Given the description of an element on the screen output the (x, y) to click on. 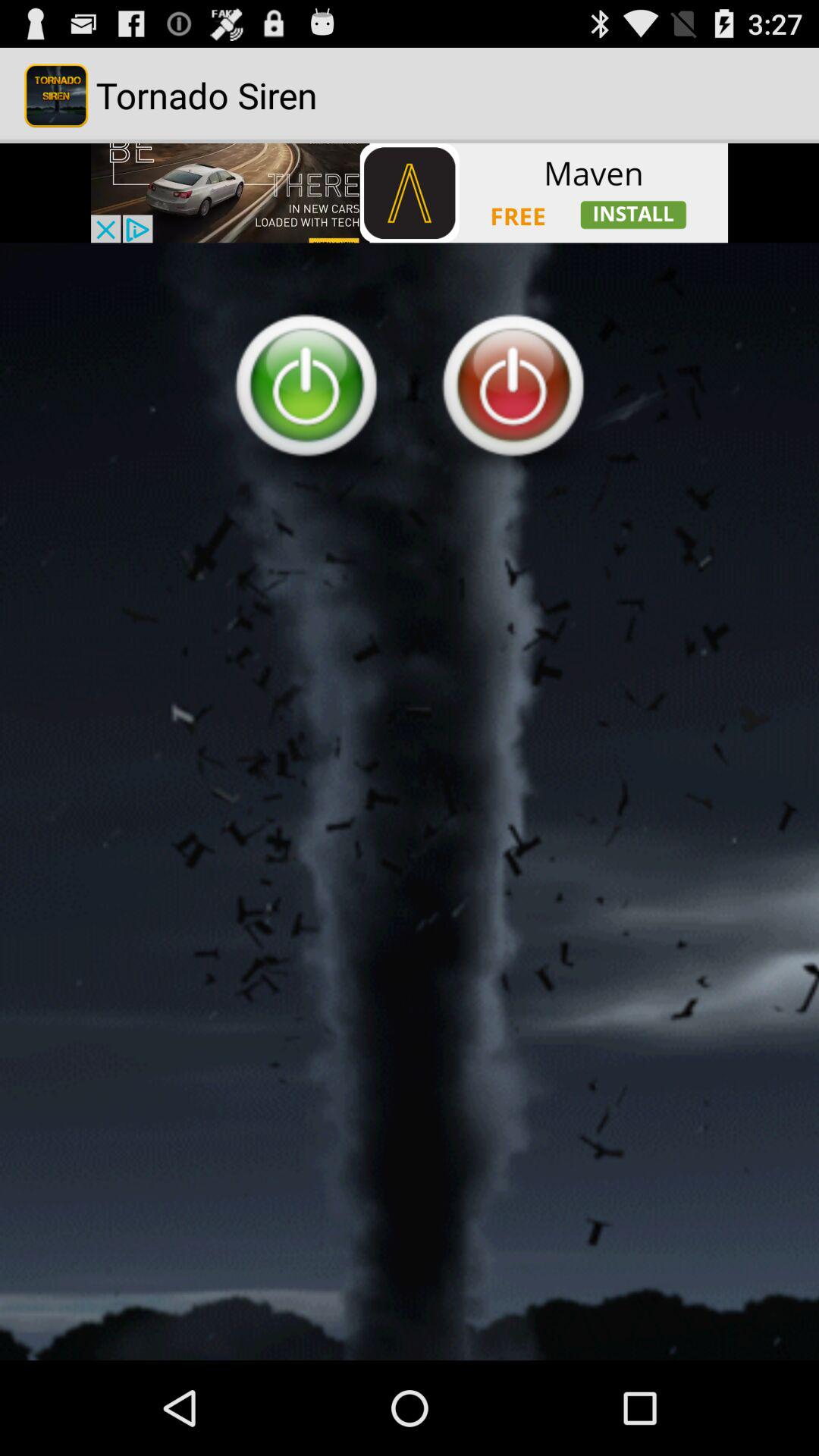
play sound effect (409, 801)
